Given the description of an element on the screen output the (x, y) to click on. 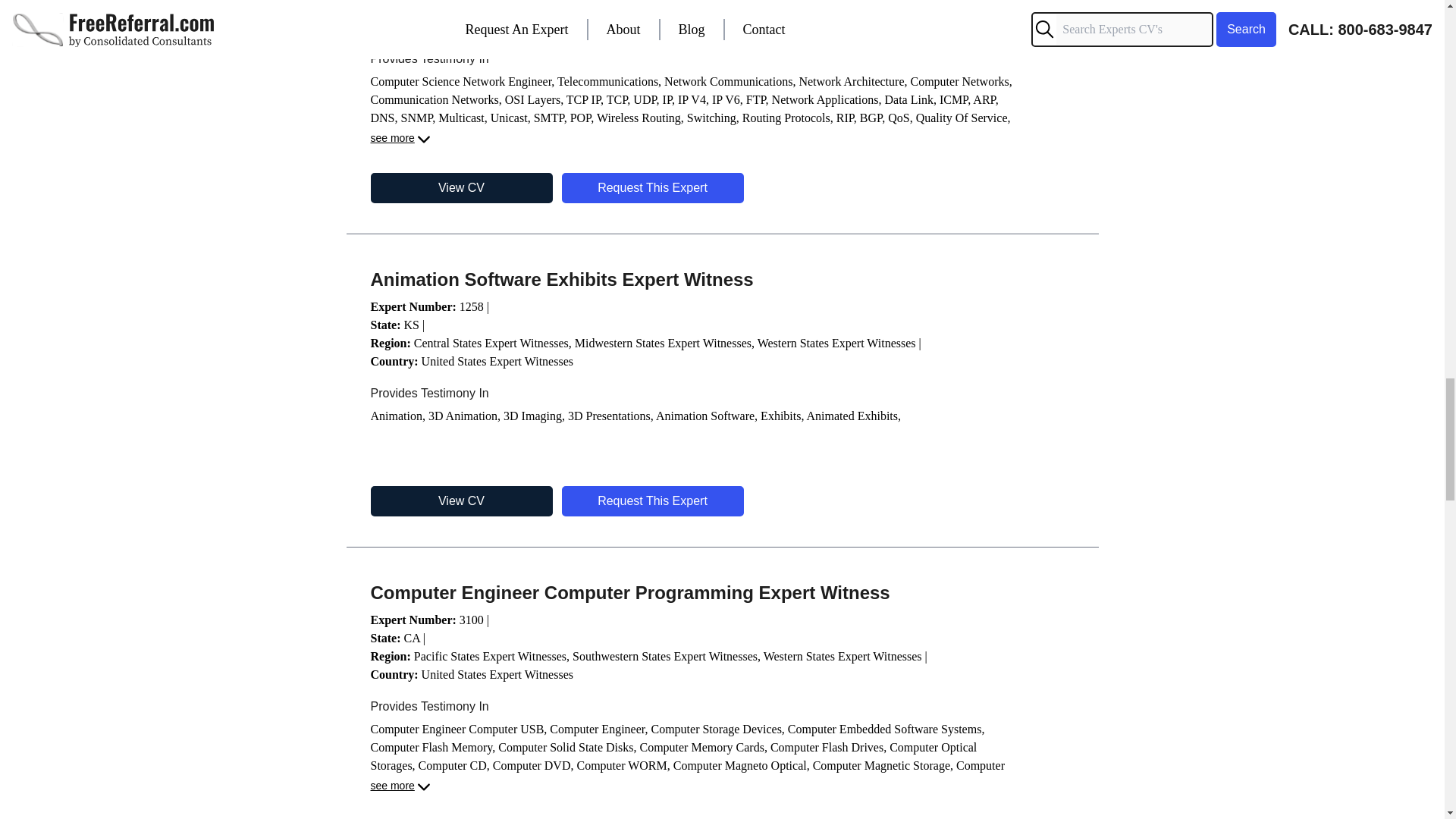
Request This Expert (651, 501)
see more (400, 787)
View CV (460, 501)
see more (400, 139)
Request This Expert (651, 187)
View CV (460, 187)
